Given the description of an element on the screen output the (x, y) to click on. 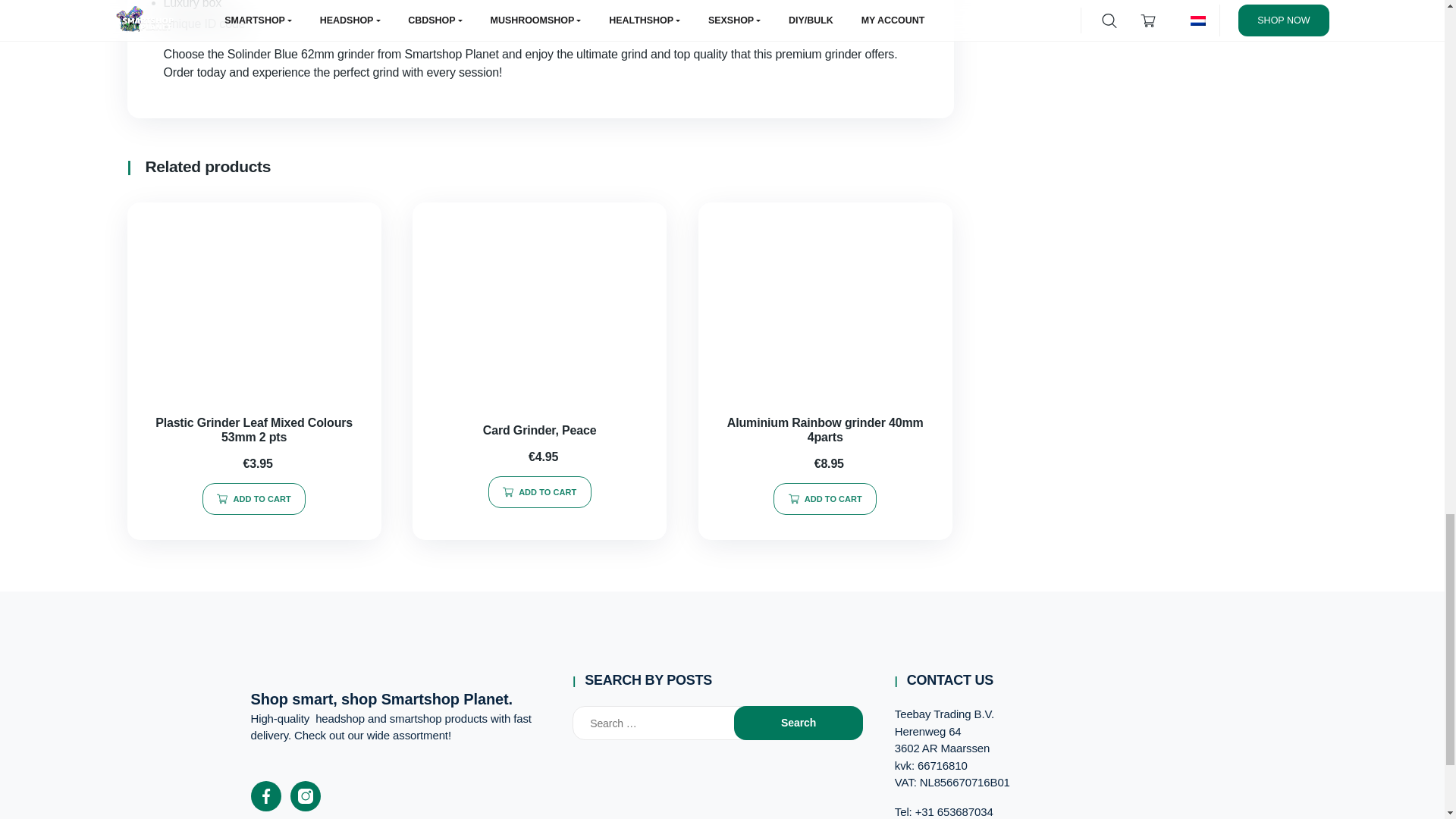
Minimum qty is 0 (253, 499)
Minimum qty is 0 (824, 499)
Search for: (668, 722)
Search (798, 722)
Search (798, 722)
Minimum qty is 0 (539, 491)
